Given the description of an element on the screen output the (x, y) to click on. 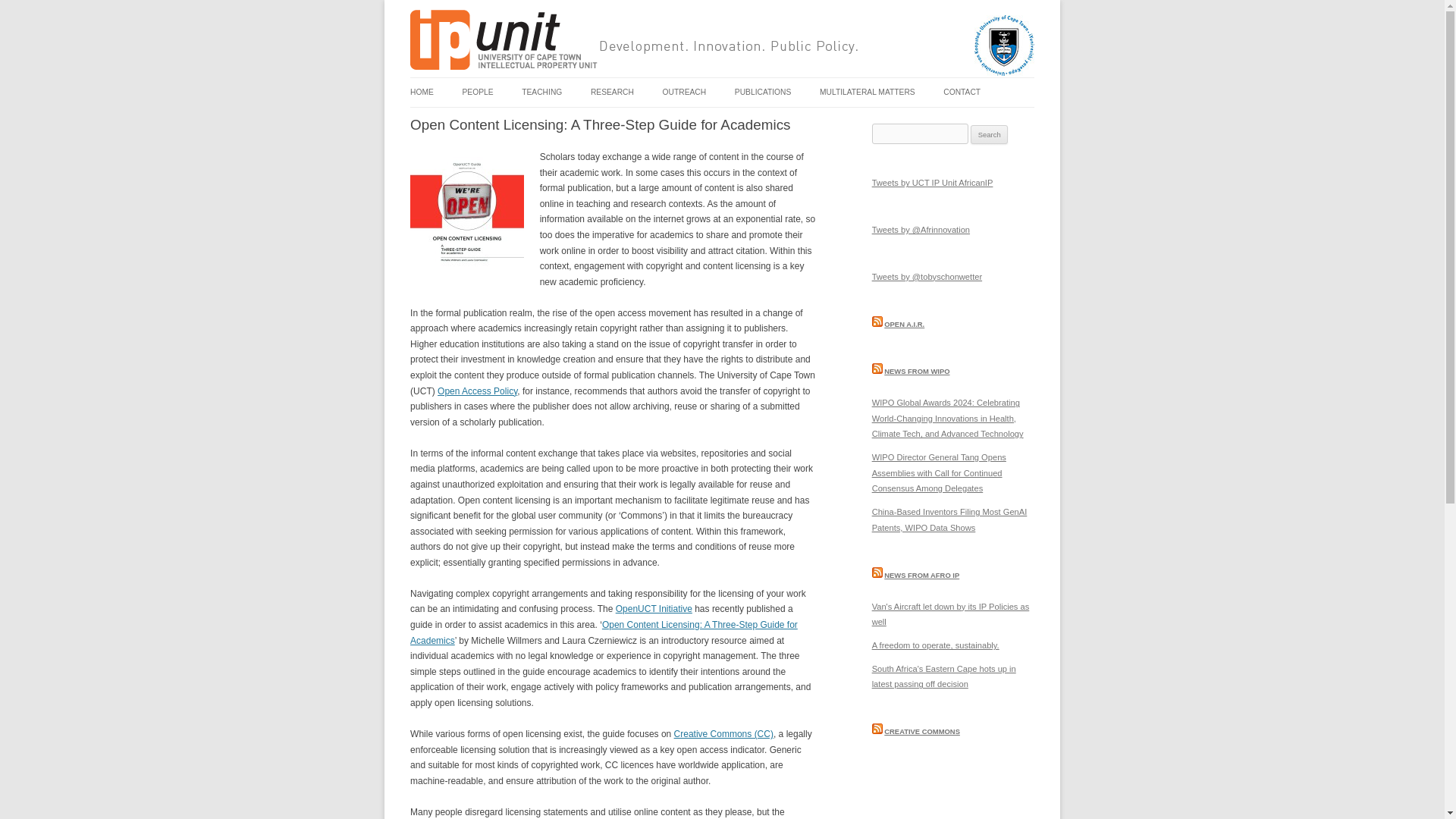
UCT IP Unit (456, 86)
Search (989, 134)
